Given the description of an element on the screen output the (x, y) to click on. 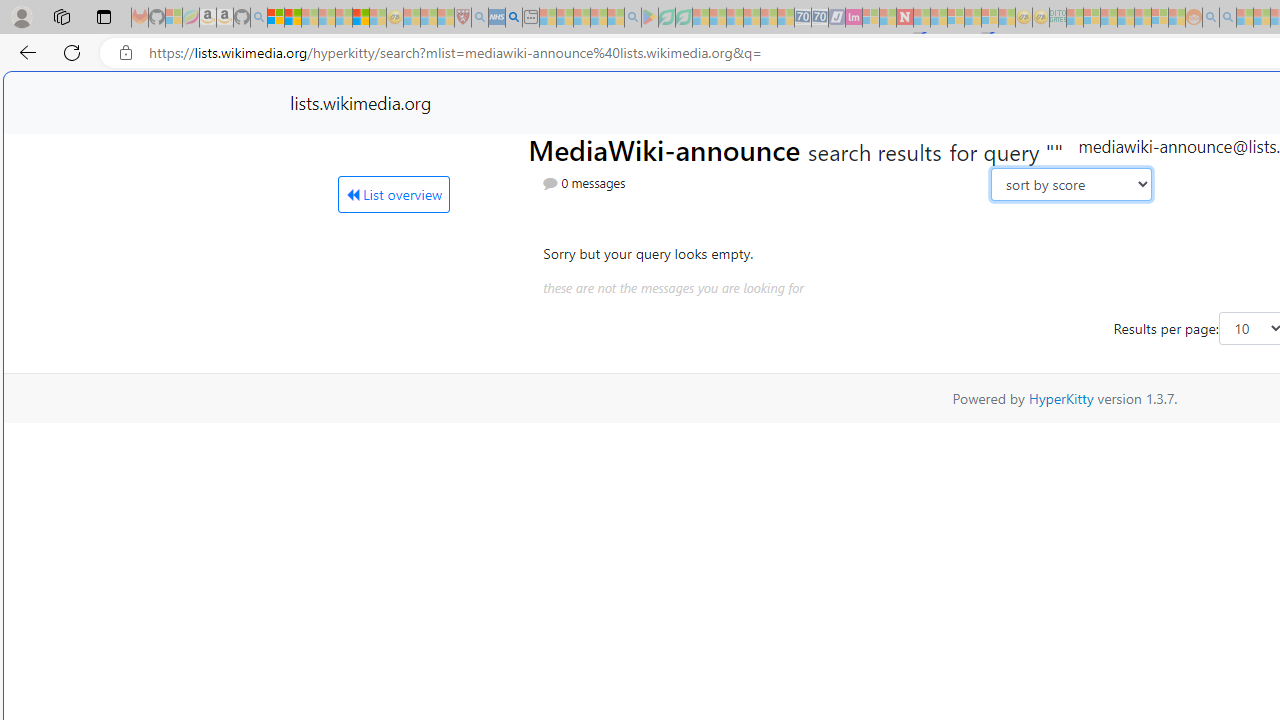
MediaWiki-announce  (667, 148)
